Given the description of an element on the screen output the (x, y) to click on. 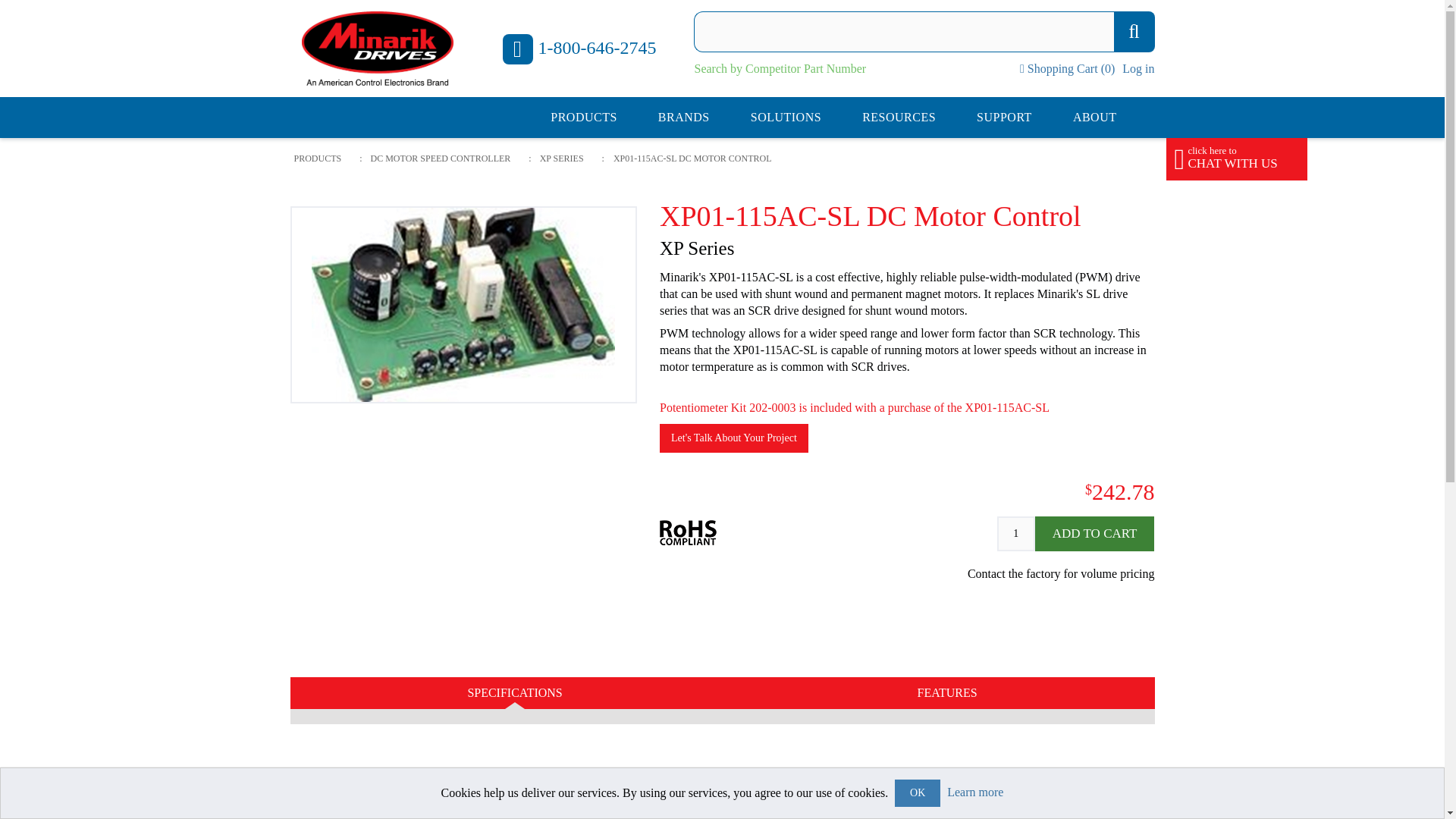
search (1133, 31)
PRODUCTS (583, 117)
1-800-646-2745 (579, 48)
Add to cart (1094, 533)
DC MOTOR SPEED CONTROLLER (440, 158)
Search by Competitor Part Number (780, 68)
BRANDS (684, 117)
SUPPORT (1004, 117)
SOLUTIONS (786, 117)
1 (1016, 533)
Picture of XP01-115AC-SL DC Motor Control (462, 305)
Log in (1138, 68)
PRODUCTS (317, 158)
RESOURCES (898, 117)
ABOUT (1094, 117)
